Given the description of an element on the screen output the (x, y) to click on. 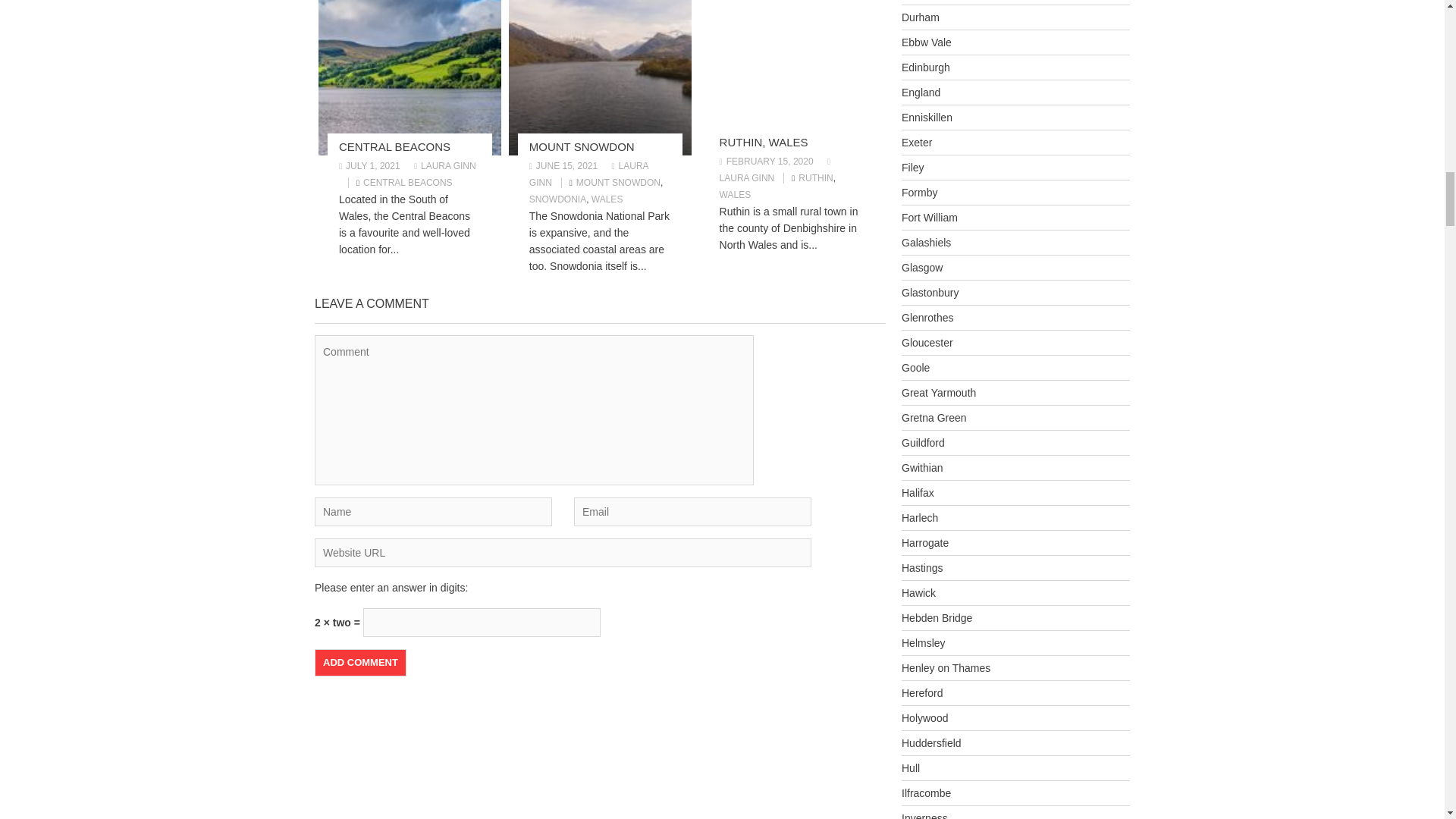
JULY 1, 2021 (369, 165)
CENTRAL BEACONS (407, 182)
CENTRAL BEACONS (394, 146)
Add Comment (360, 662)
LAURA GINN (444, 165)
